Given the description of an element on the screen output the (x, y) to click on. 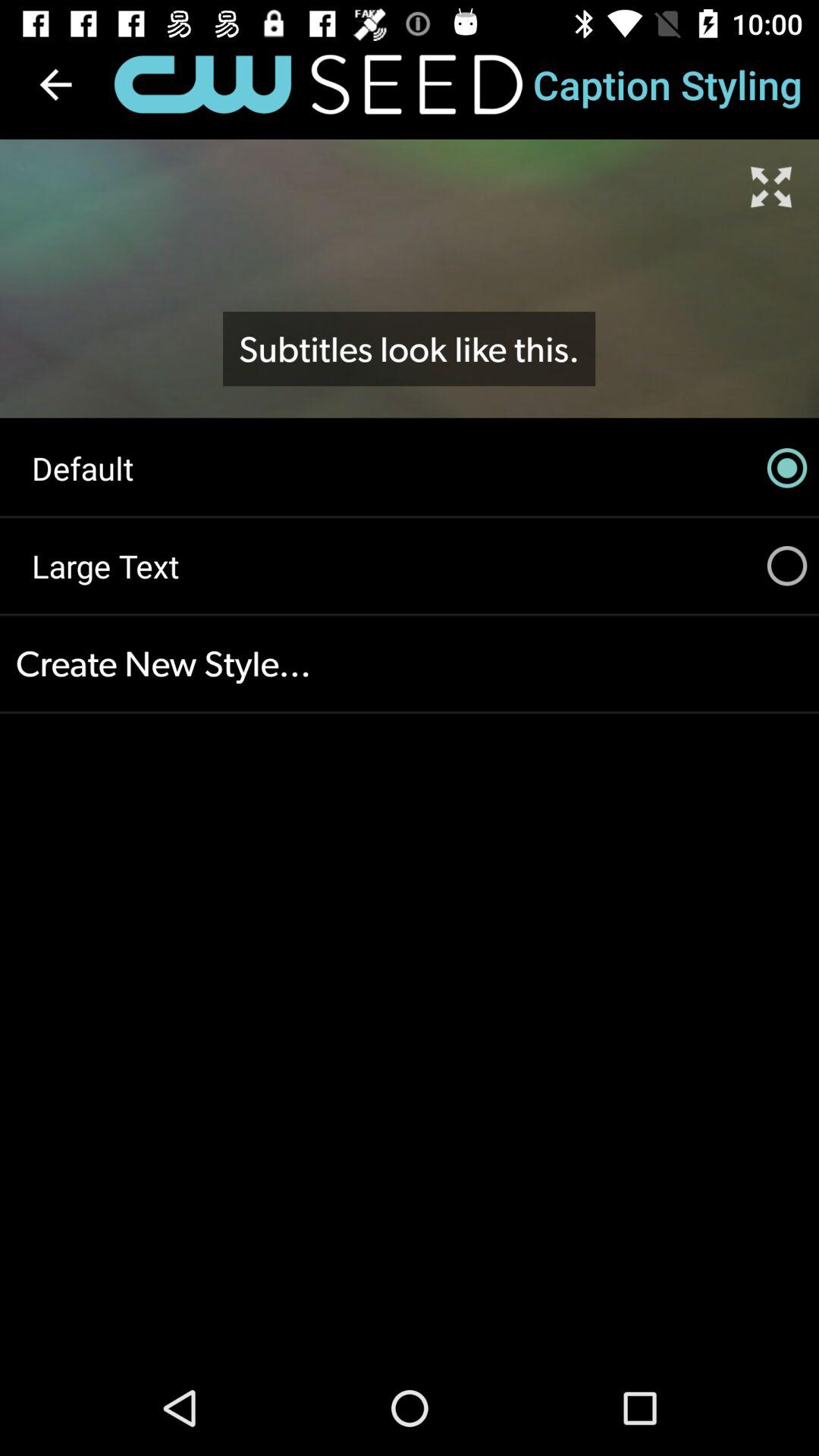
scroll to the large text item (409, 565)
